Given the description of an element on the screen output the (x, y) to click on. 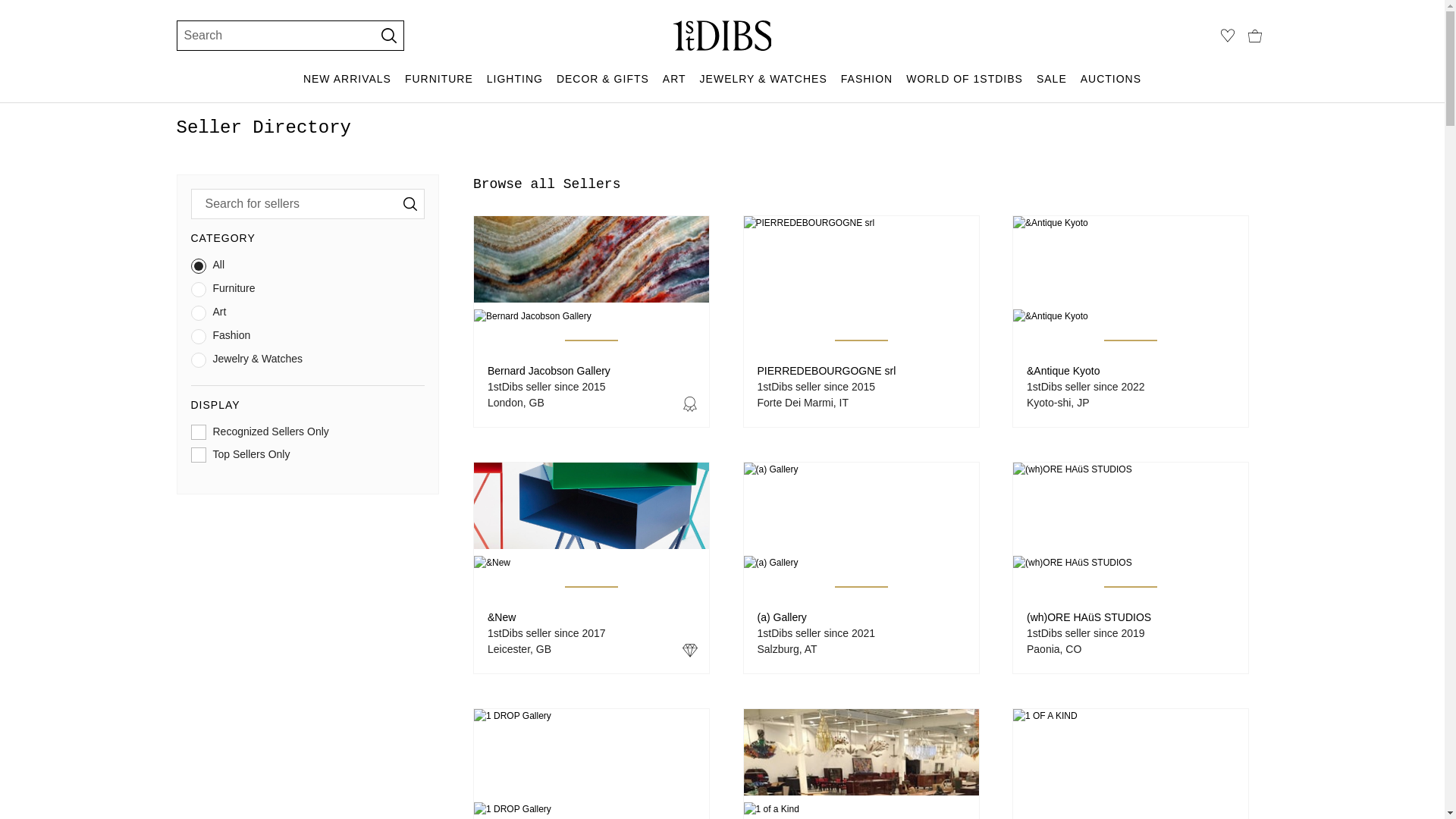
Recognized Sellers Only Element type: text (308, 434)
FURNITURE Element type: text (438, 86)
LIGHTING Element type: text (514, 86)
&Antique Kyoto Element type: text (1063, 370)
Top Sellers Only Element type: text (308, 457)
Search Element type: hover (268, 35)
AUCTIONS Element type: text (1110, 86)
Fashion Element type: text (308, 339)
FASHION Element type: text (866, 86)
&New Element type: text (501, 617)
ART Element type: text (674, 86)
Art Element type: text (308, 315)
SALE Element type: text (1051, 86)
PIERREDEBOURGOGNE srl Element type: text (825, 370)
Furniture Element type: text (308, 292)
All Element type: text (308, 268)
JEWELRY & WATCHES Element type: text (763, 86)
(a) Gallery Element type: text (781, 617)
Bernard Jacobson Gallery Element type: text (548, 370)
SKIP TO MAIN CONTENT Element type: text (6, 6)
DECOR & GIFTS Element type: text (602, 86)
WORLD OF 1STDIBS Element type: text (964, 86)
Jewelry & Watches Element type: text (308, 362)
NEW ARRIVALS Element type: text (347, 86)
